Given the description of an element on the screen output the (x, y) to click on. 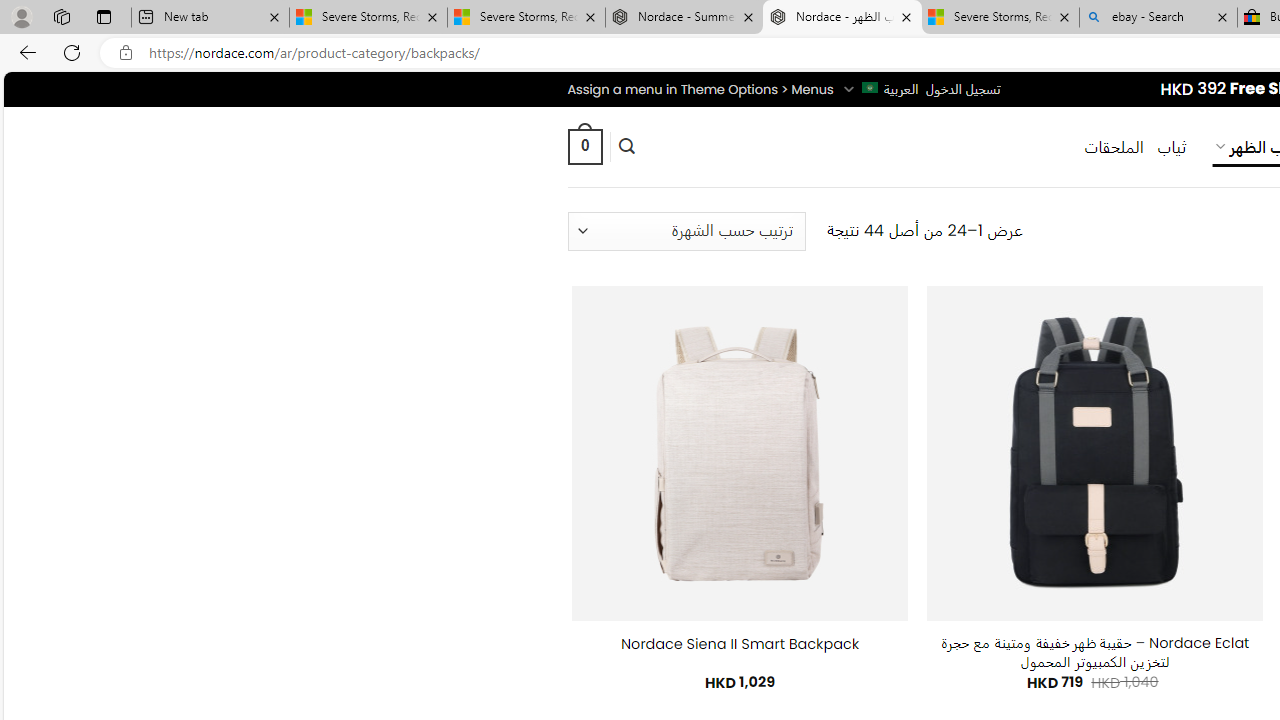
 0  (584, 146)
Nordace - Summer Adventures 2024 (683, 17)
Nordace Siena II Smart Backpack (739, 643)
  0   (584, 146)
